Given the description of an element on the screen output the (x, y) to click on. 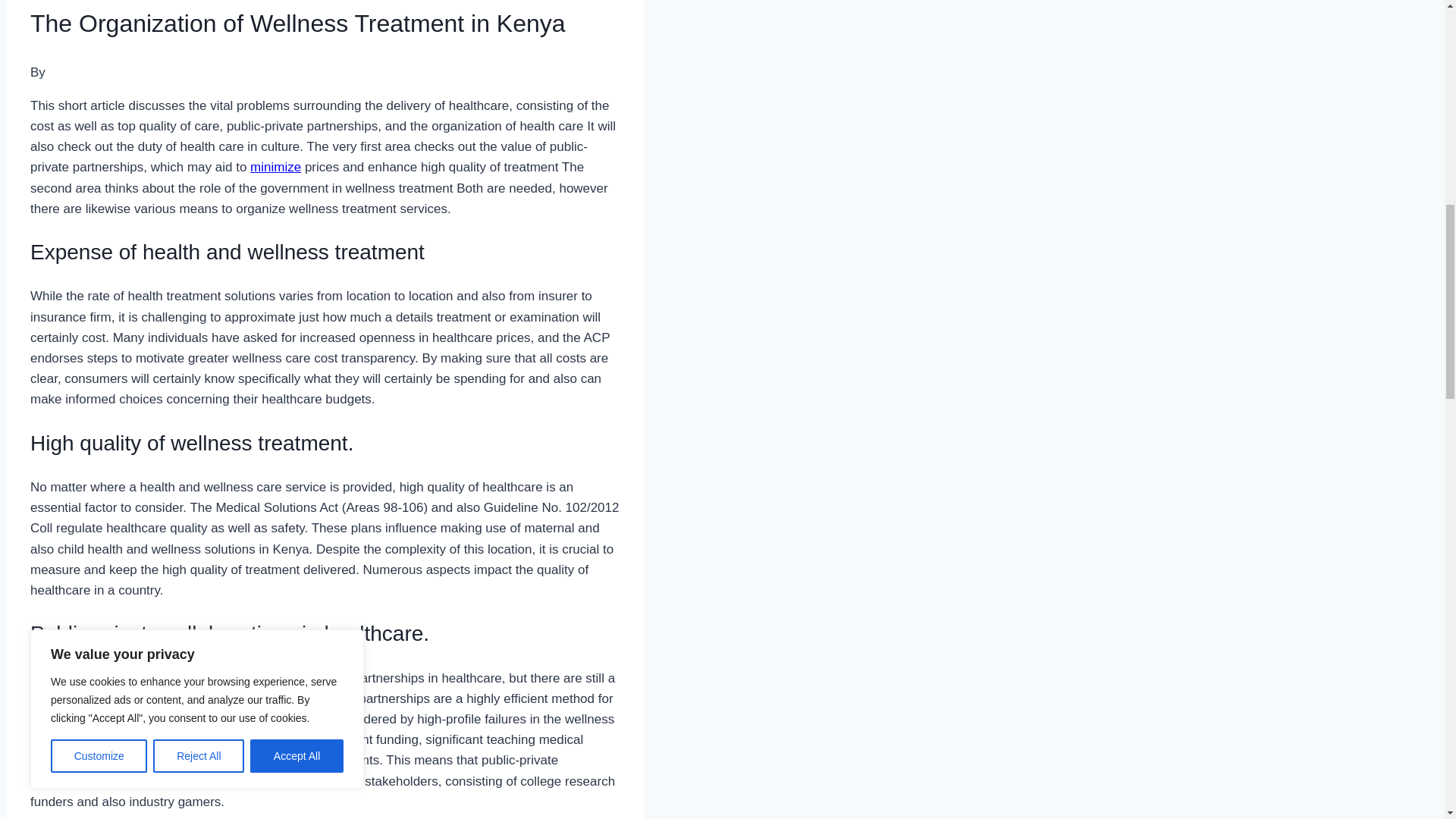
minimize (275, 166)
facilities (52, 759)
entail multiple (273, 780)
